Given the description of an element on the screen output the (x, y) to click on. 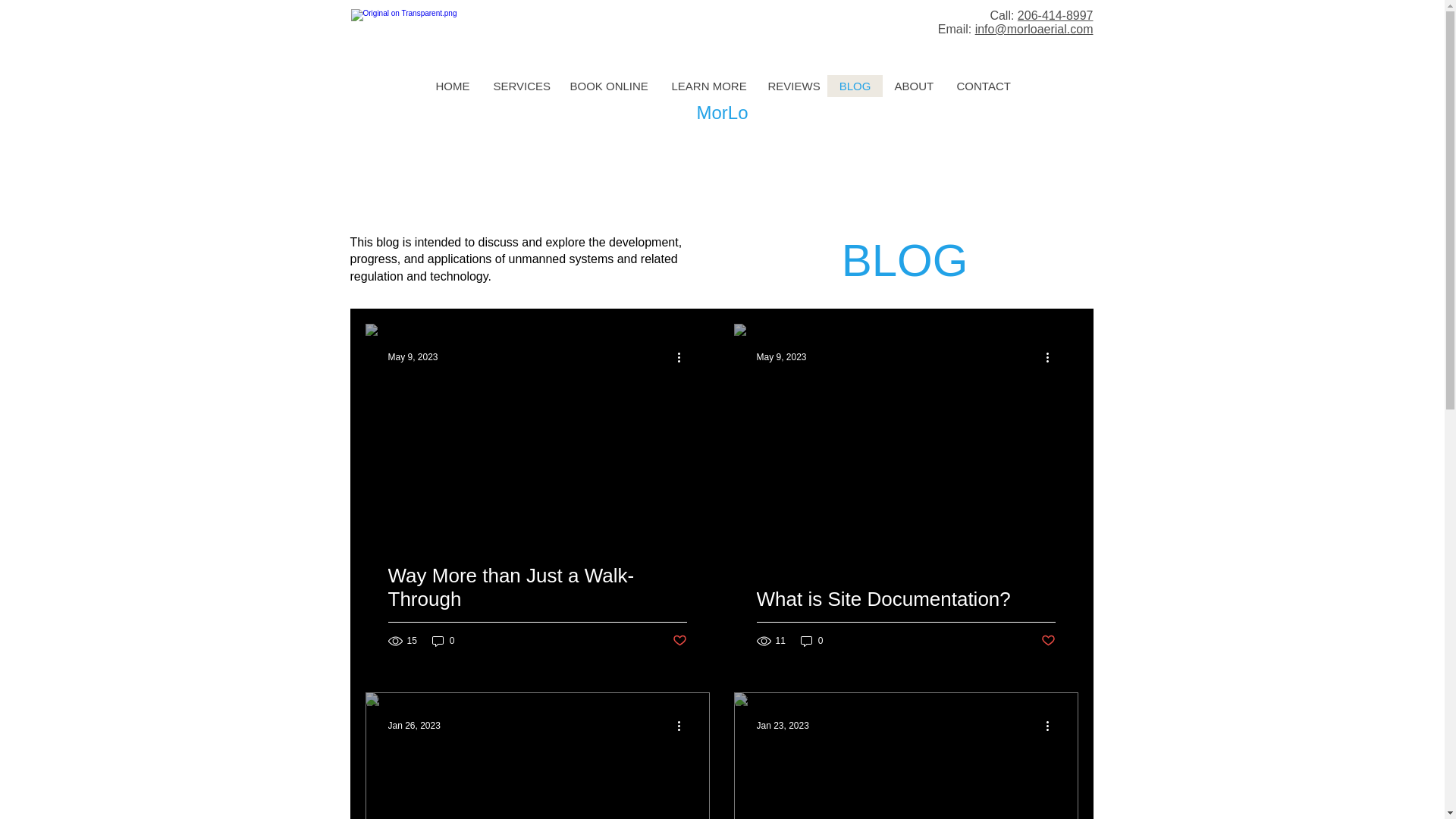
MorLo Aerial Operations LLC (434, 24)
0 (443, 640)
0 (812, 640)
Way More than Just a Walk-Through (537, 605)
ABOUT (913, 86)
What is Site Documentation? (906, 617)
CONTACT (982, 86)
REVIEWS (791, 86)
Jan 23, 2023 (783, 725)
BLOG (854, 86)
